Given the description of an element on the screen output the (x, y) to click on. 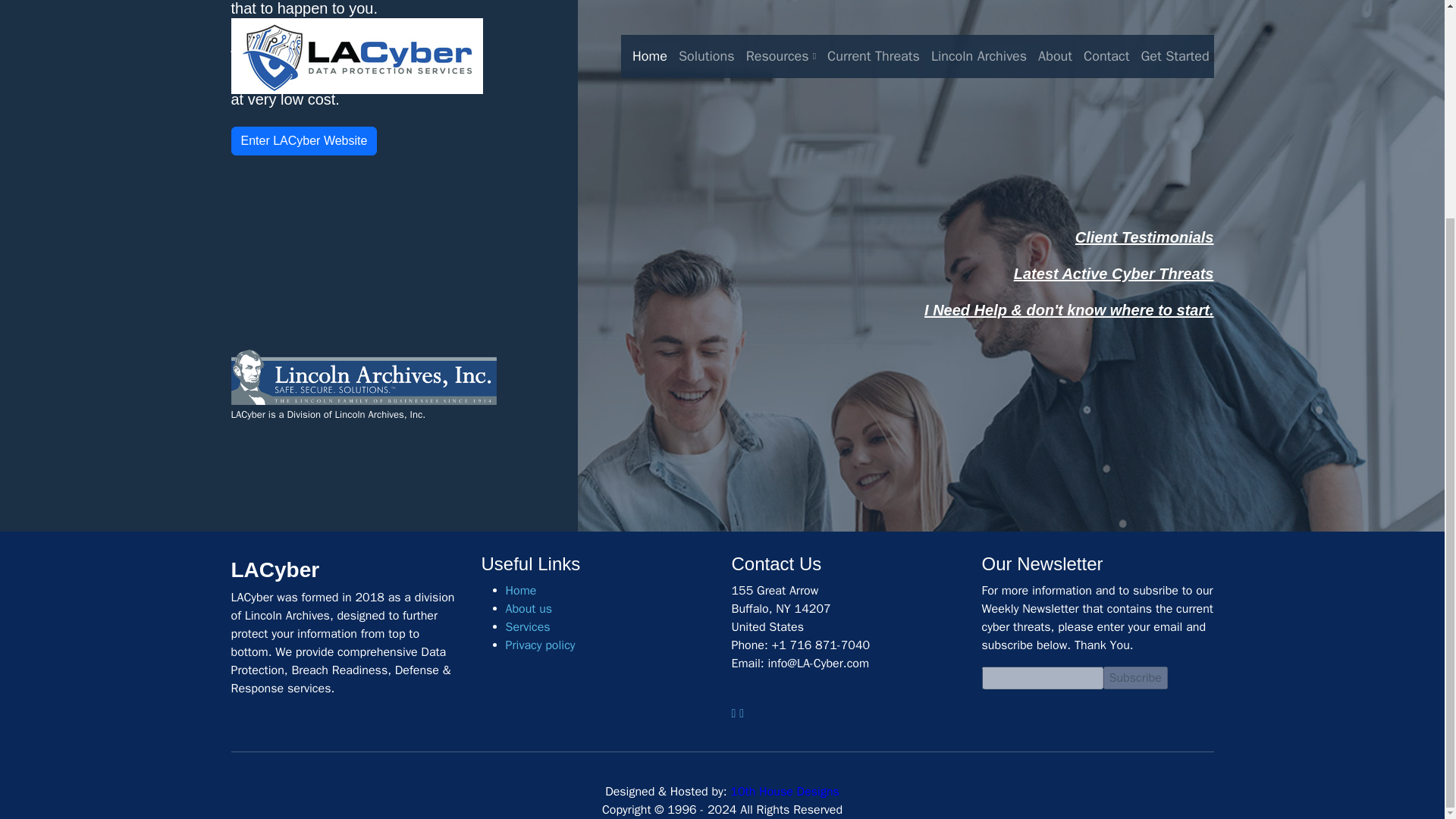
Client Testimonials (1144, 237)
Home (520, 590)
Services (527, 626)
Subscribe (1134, 677)
Privacy policy (540, 645)
10th House Designs (785, 791)
Latest Active Cyber Threats (1113, 273)
Enter LACyber Website (303, 140)
LACyber is a Division of Lincoln Archives, Inc. (363, 394)
About us (528, 608)
